Given the description of an element on the screen output the (x, y) to click on. 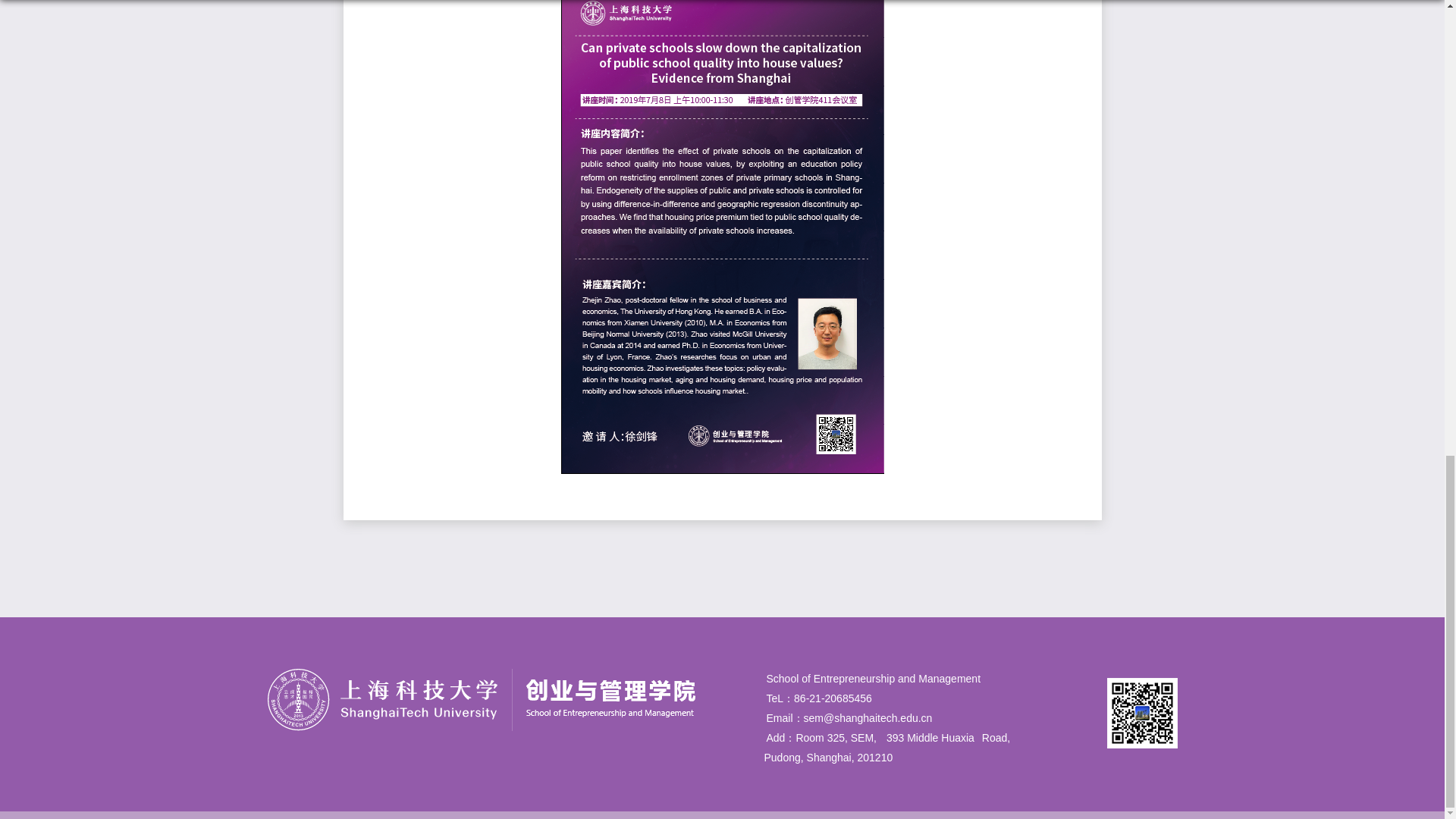
Contact Us (897, 718)
